Given the description of an element on the screen output the (x, y) to click on. 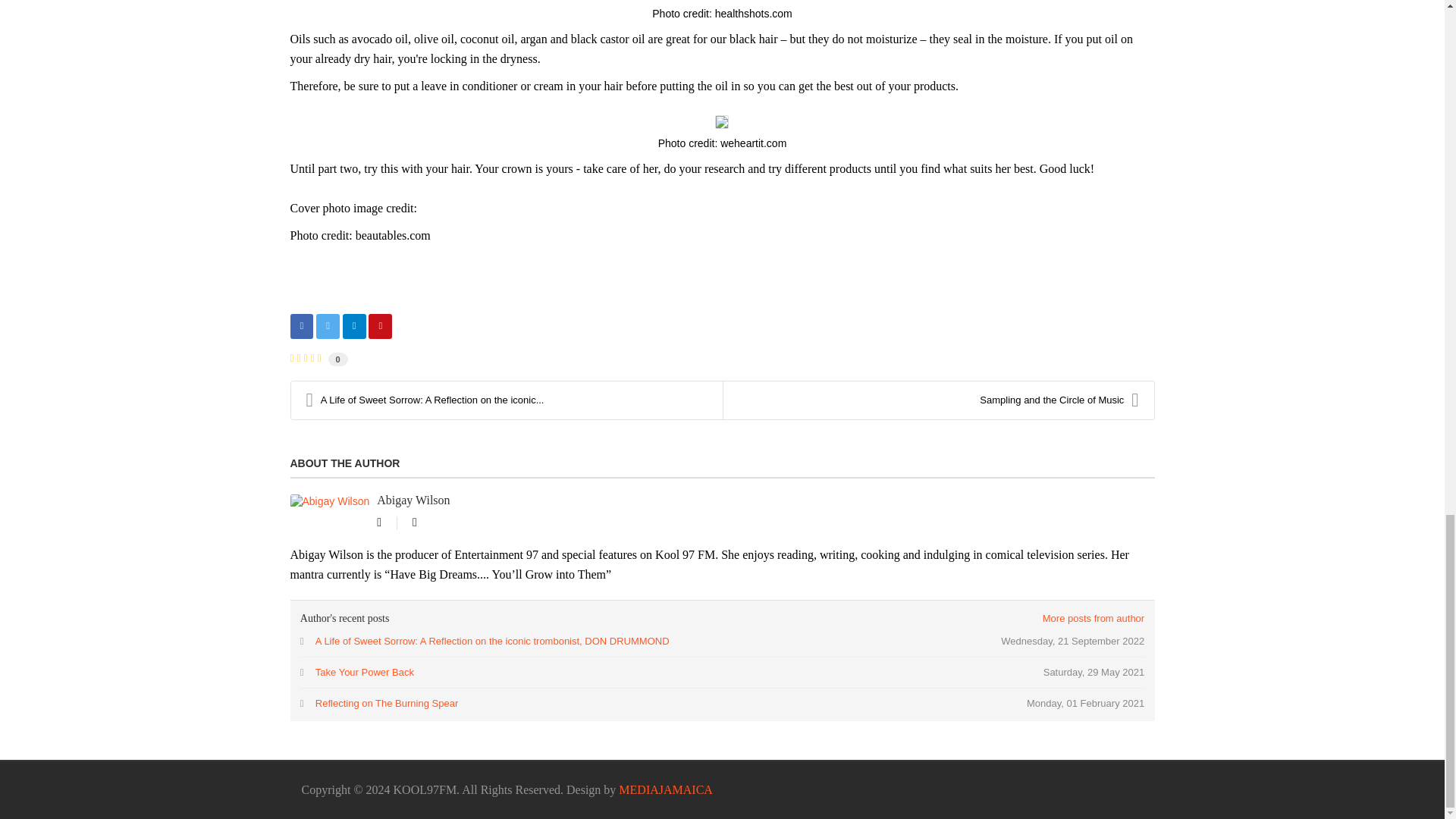
0 votes (338, 359)
Visit MEDIAJAMAICA (665, 789)
